Given the description of an element on the screen output the (x, y) to click on. 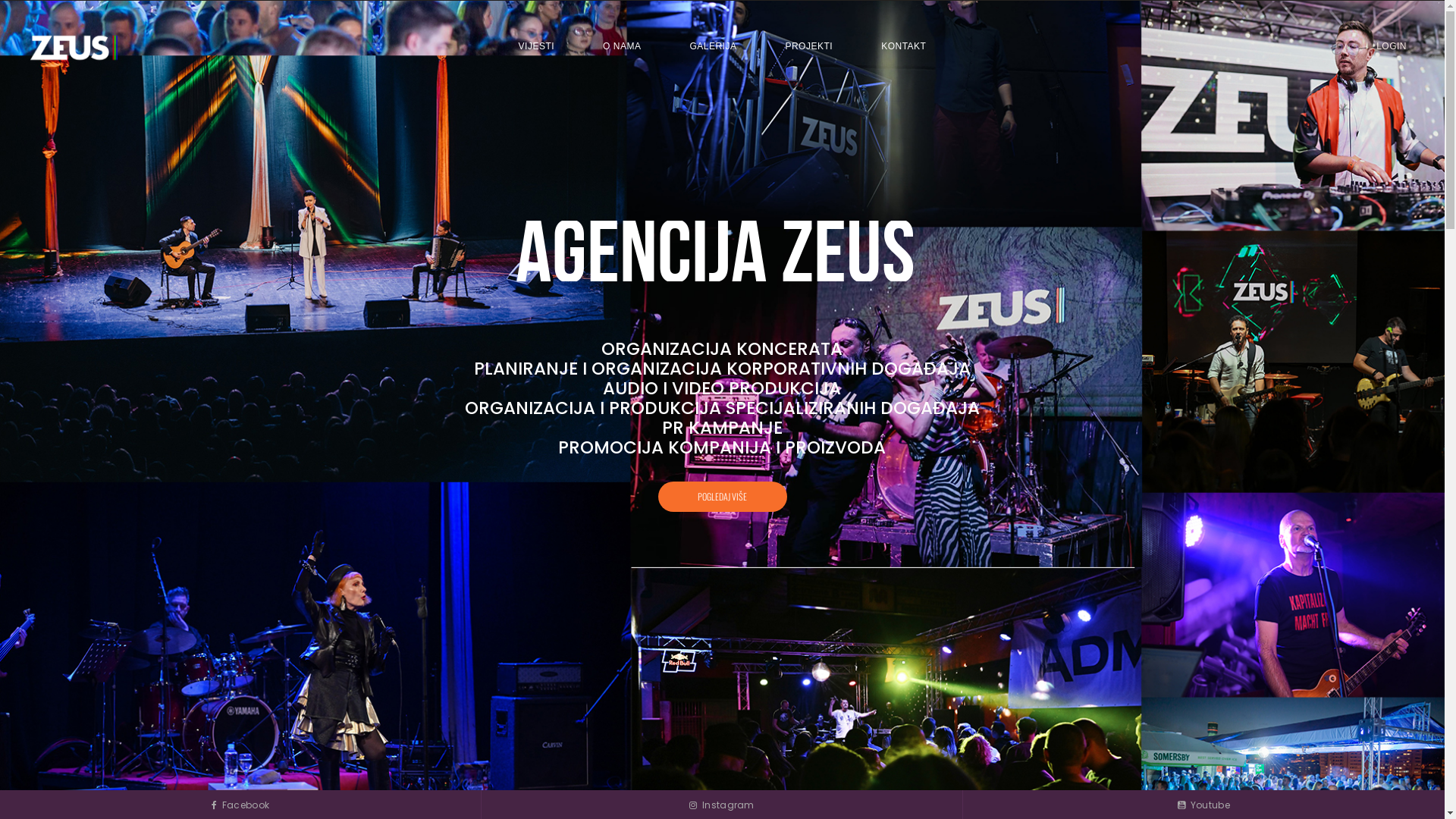
O NAMA Element type: text (621, 46)
VIJESTI Element type: text (536, 46)
PROJEKTI Element type: text (808, 46)
LOGIN Element type: text (1391, 45)
GALERIJA Element type: text (712, 46)
KONTAKT Element type: text (903, 46)
ZEUS Element type: hover (74, 46)
